Given the description of an element on the screen output the (x, y) to click on. 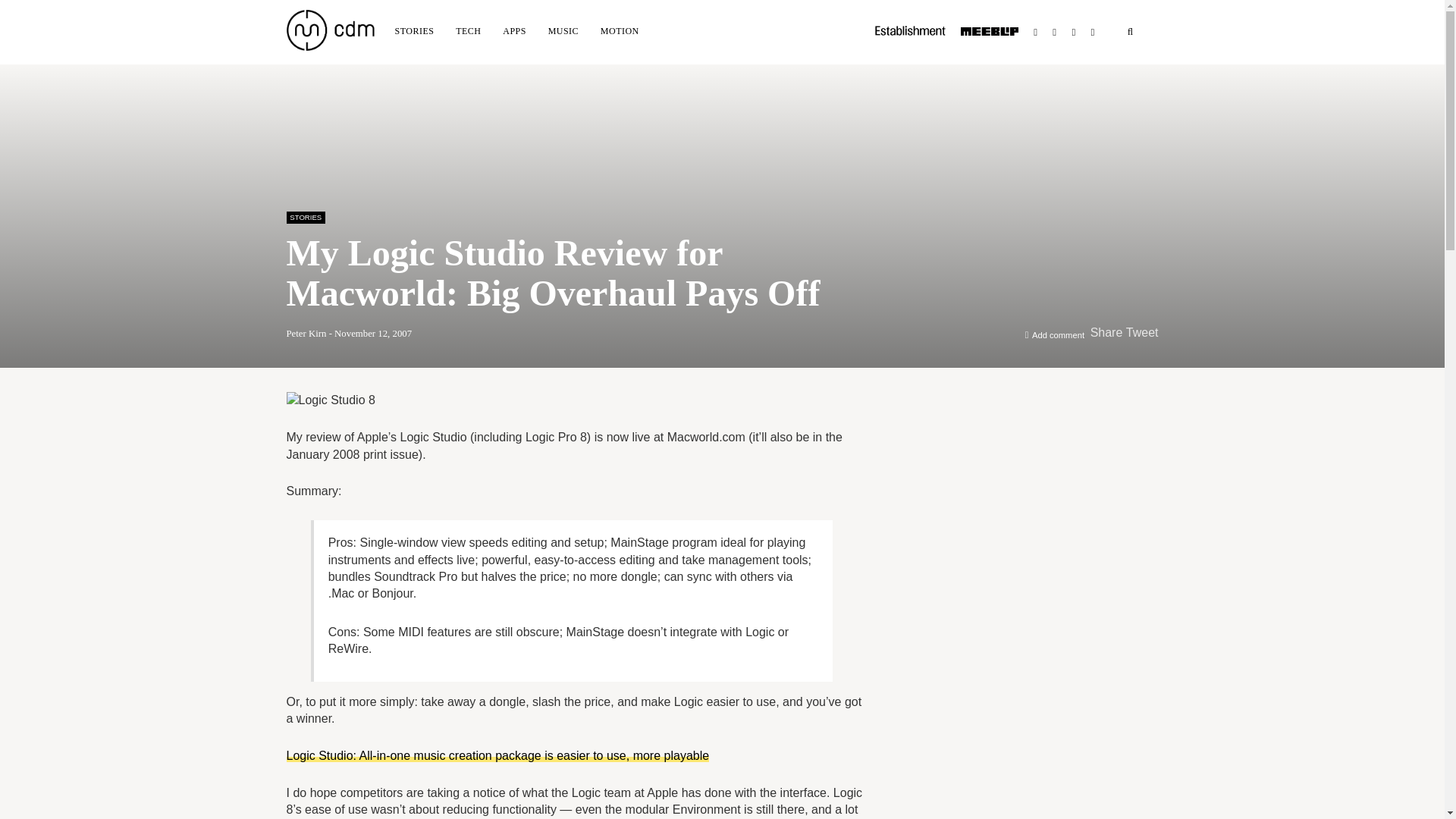
Add comment (1058, 334)
STORIES (306, 217)
Tweet (1141, 332)
MOTION (619, 30)
STORIES (414, 30)
search (1130, 32)
Share (1106, 332)
